Given the description of an element on the screen output the (x, y) to click on. 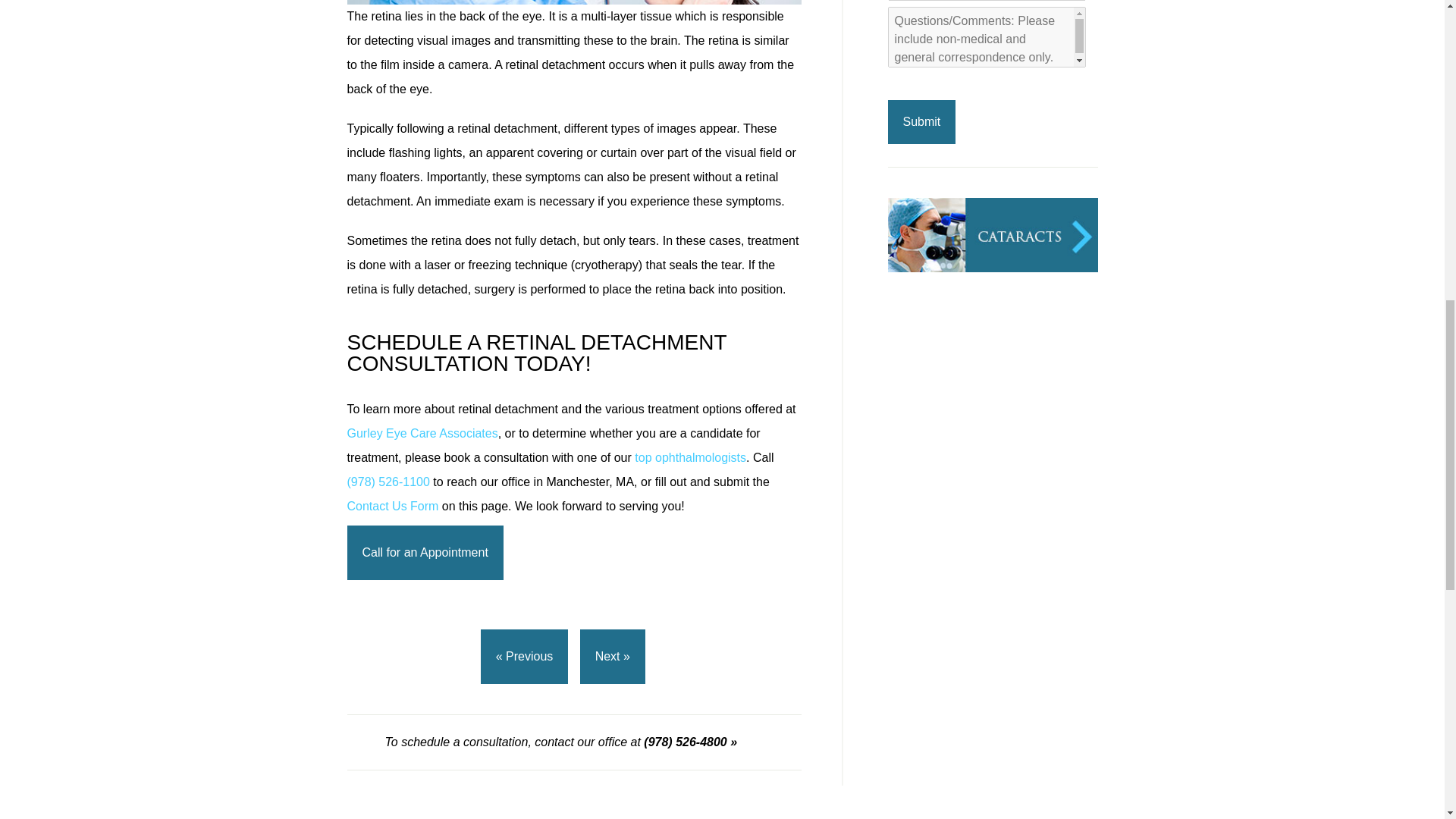
Comprehensive Eye Care (991, 513)
Diabetic Retinopathy (991, 431)
Cataracts (991, 267)
Submit (920, 121)
Glaucoma (991, 349)
